Given the description of an element on the screen output the (x, y) to click on. 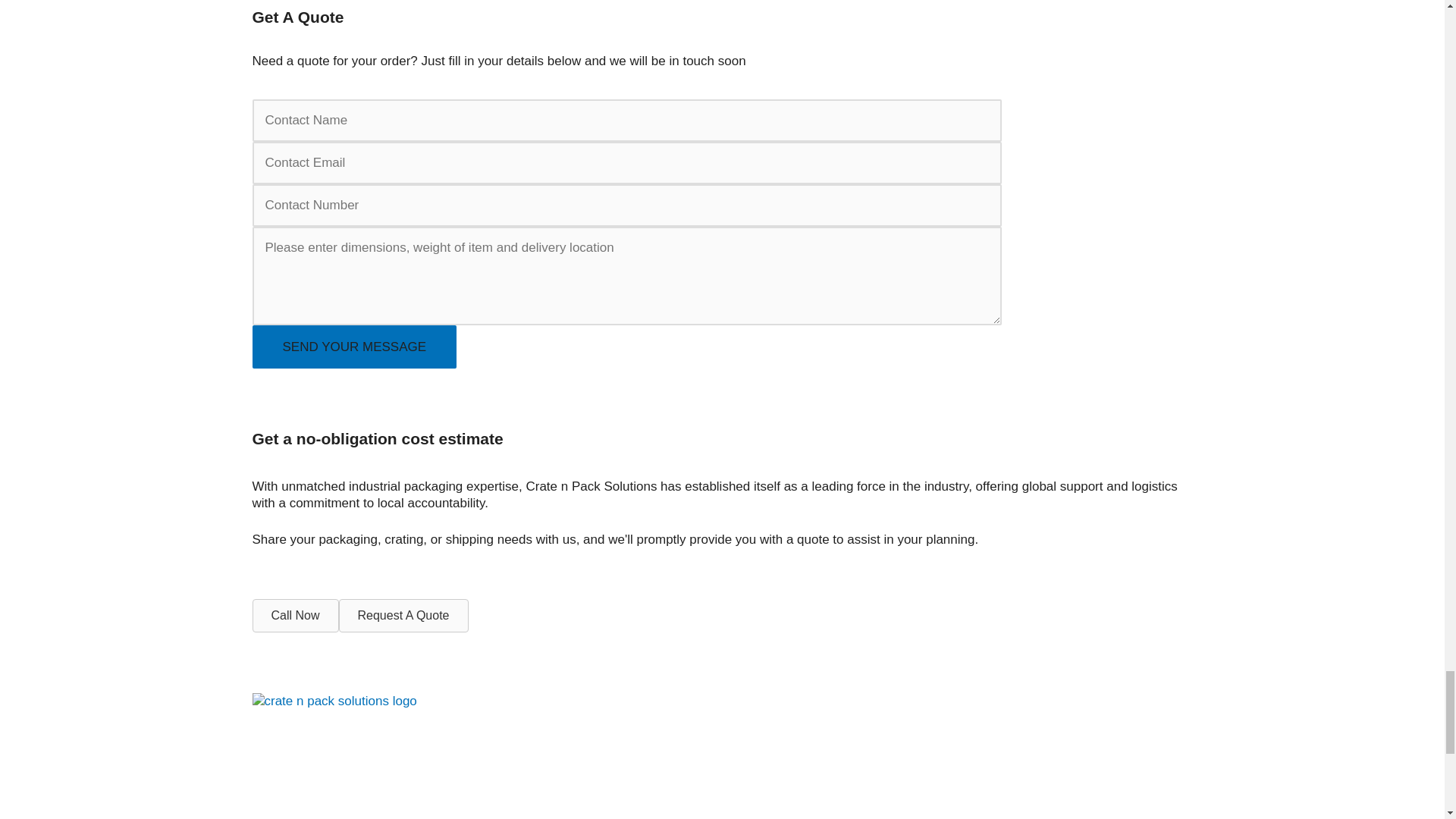
crate n pack solutions logo (333, 700)
